Given the description of an element on the screen output the (x, y) to click on. 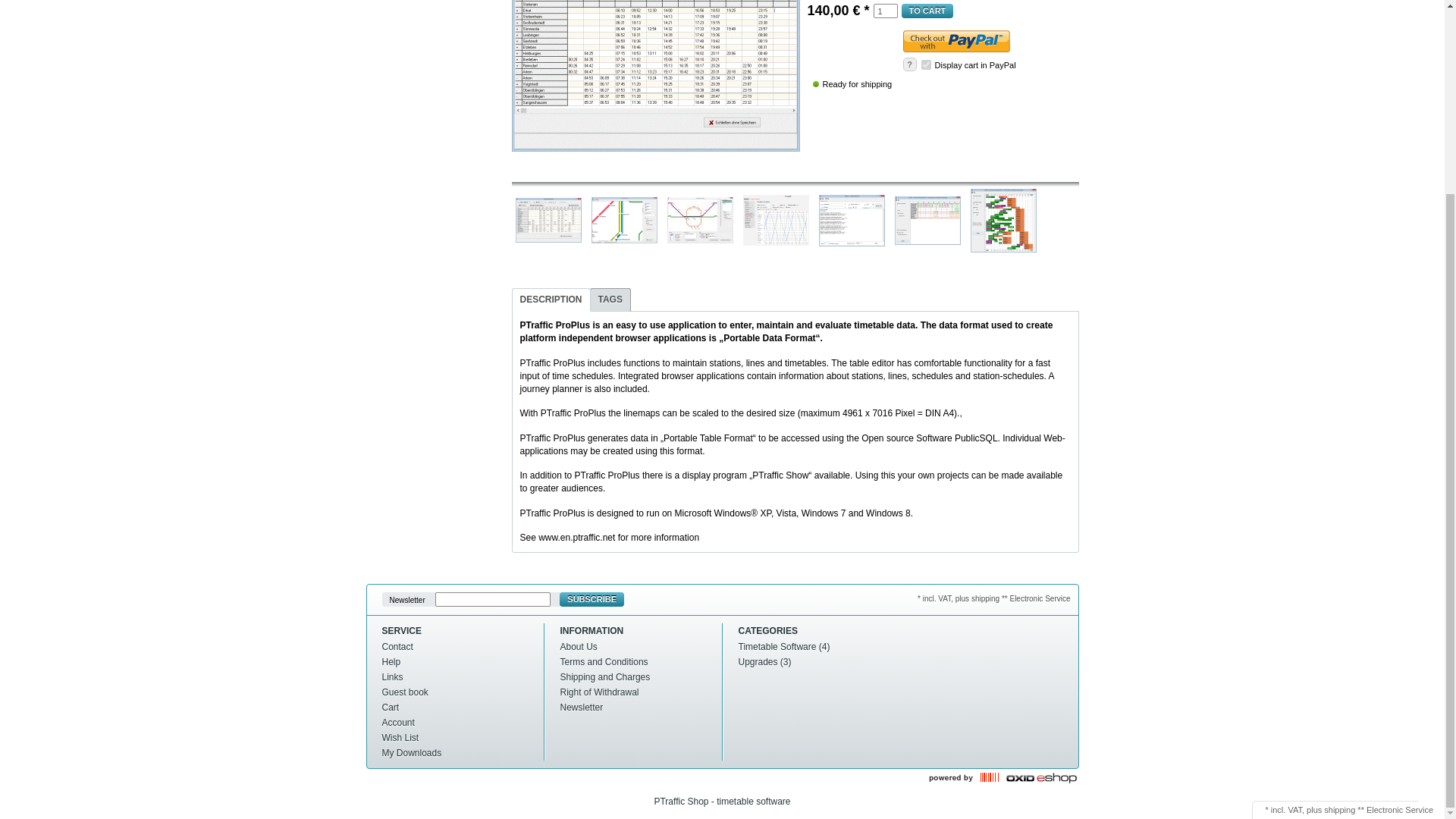
1 (885, 11)
1 (926, 64)
